Given the description of an element on the screen output the (x, y) to click on. 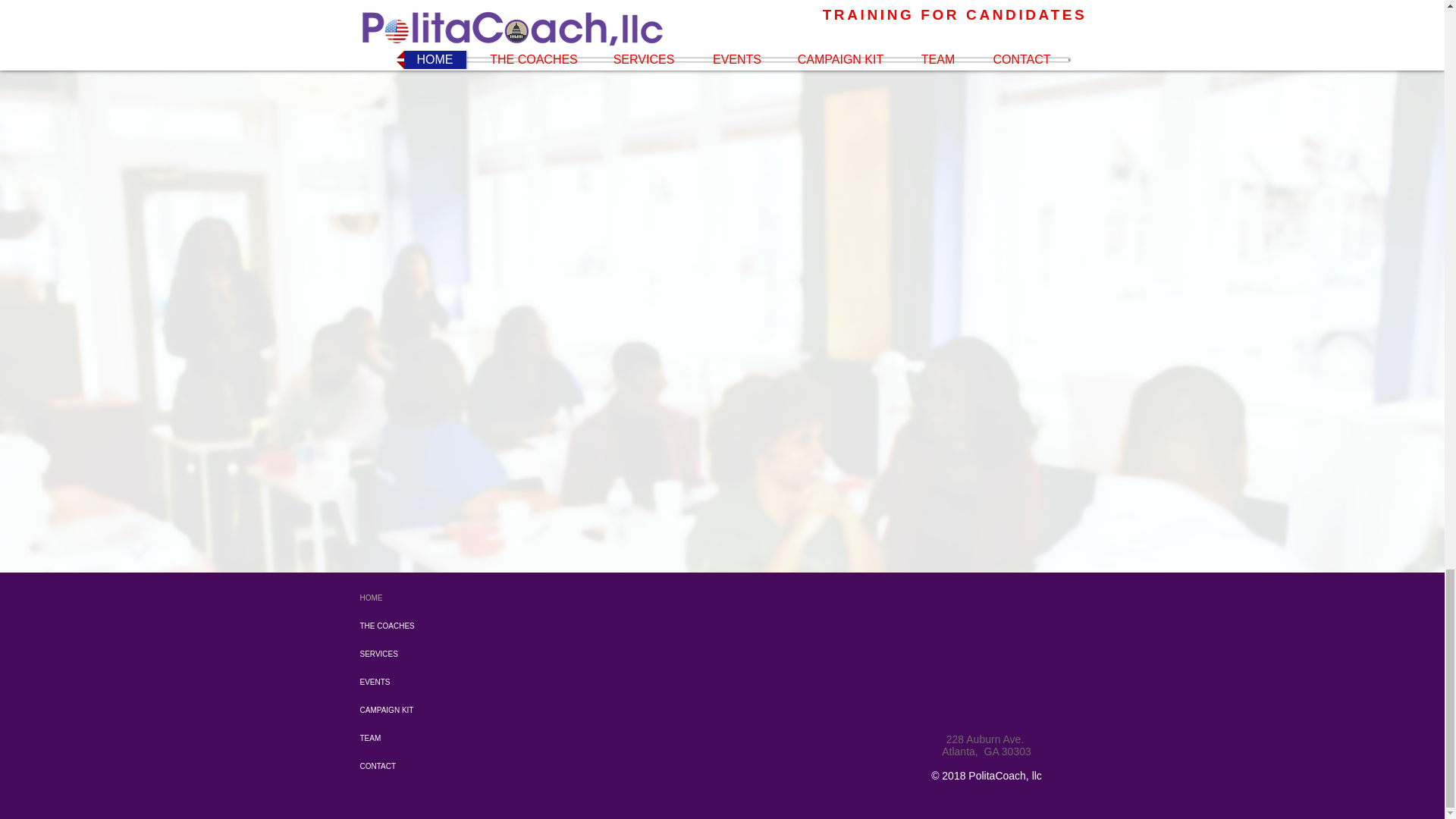
CONTACT (434, 766)
HOME (434, 597)
TEAM (434, 737)
THE COACHES (434, 625)
SERVICES (434, 653)
EVENTS (434, 682)
CAMPAIGN KIT (434, 709)
